Given the description of an element on the screen output the (x, y) to click on. 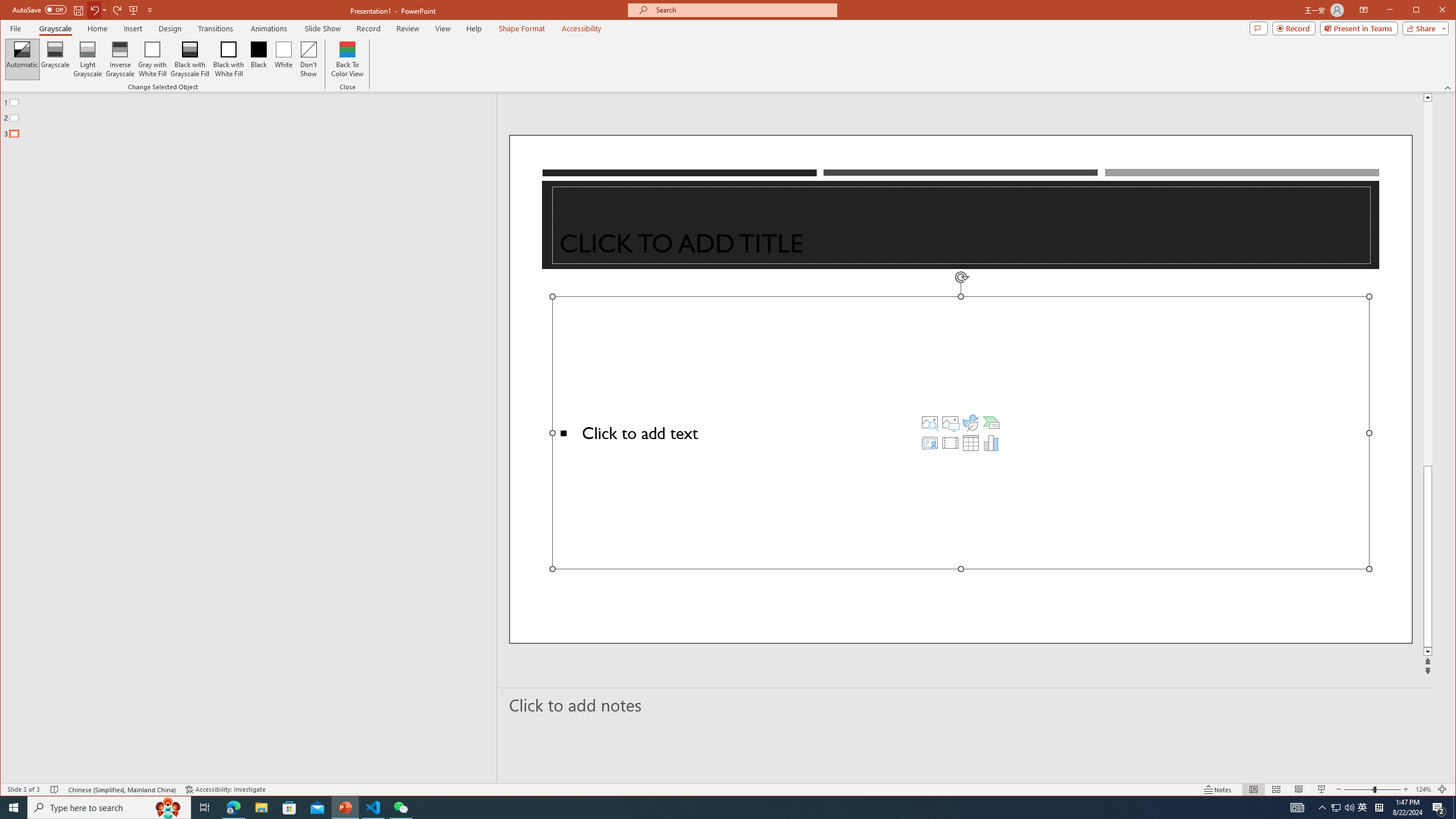
Black with Grayscale Fill (189, 59)
Back To Color View (347, 59)
